Given the description of an element on the screen output the (x, y) to click on. 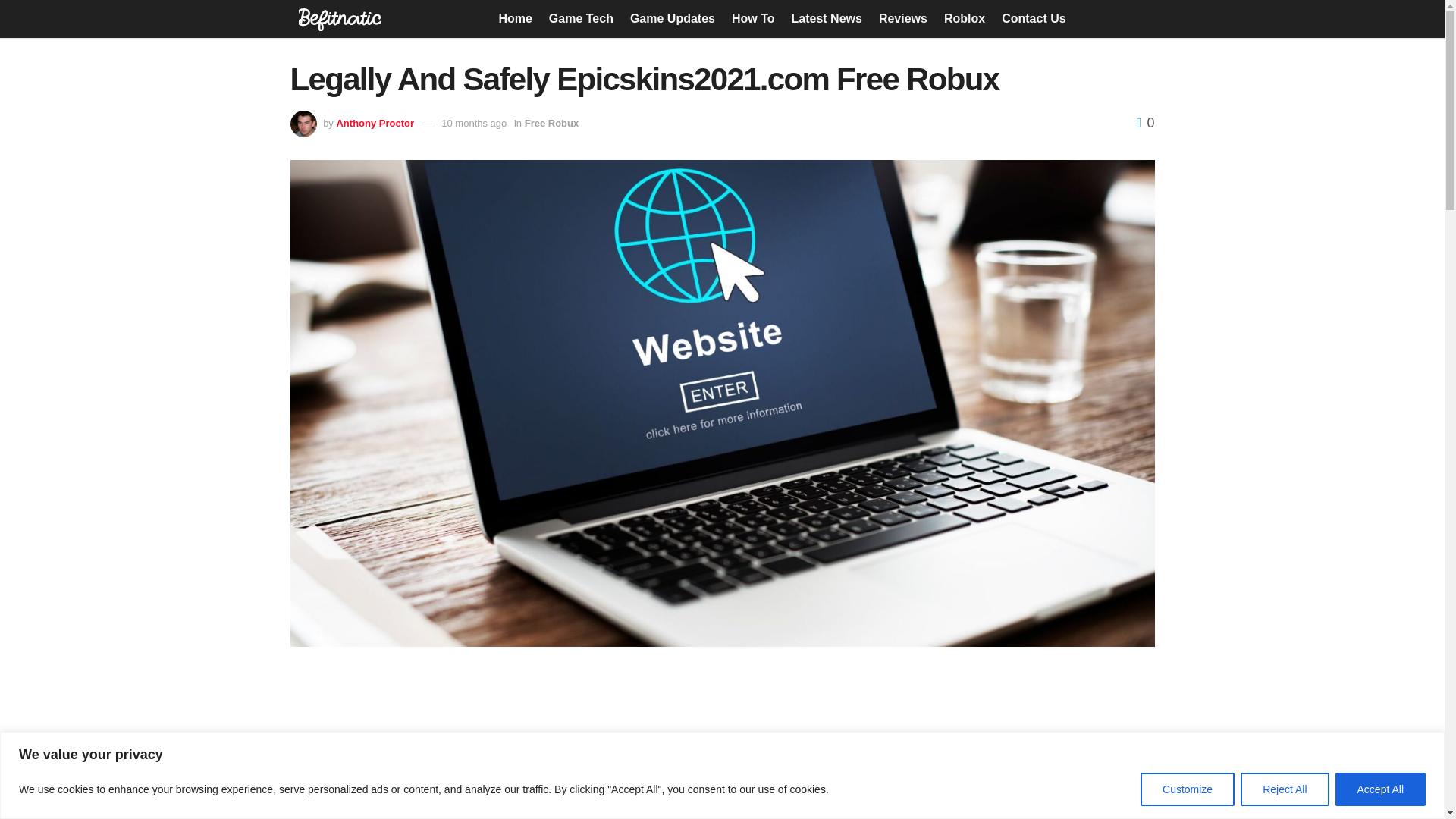
Home (514, 18)
Game Tech (580, 18)
Customize (1187, 788)
Accept All (1380, 788)
Roblox (964, 18)
Reviews (903, 18)
Contact Us (1033, 18)
Advertisement (721, 744)
Game Updates (672, 18)
How To (753, 18)
Latest News (826, 18)
Reject All (1283, 788)
